Given the description of an element on the screen output the (x, y) to click on. 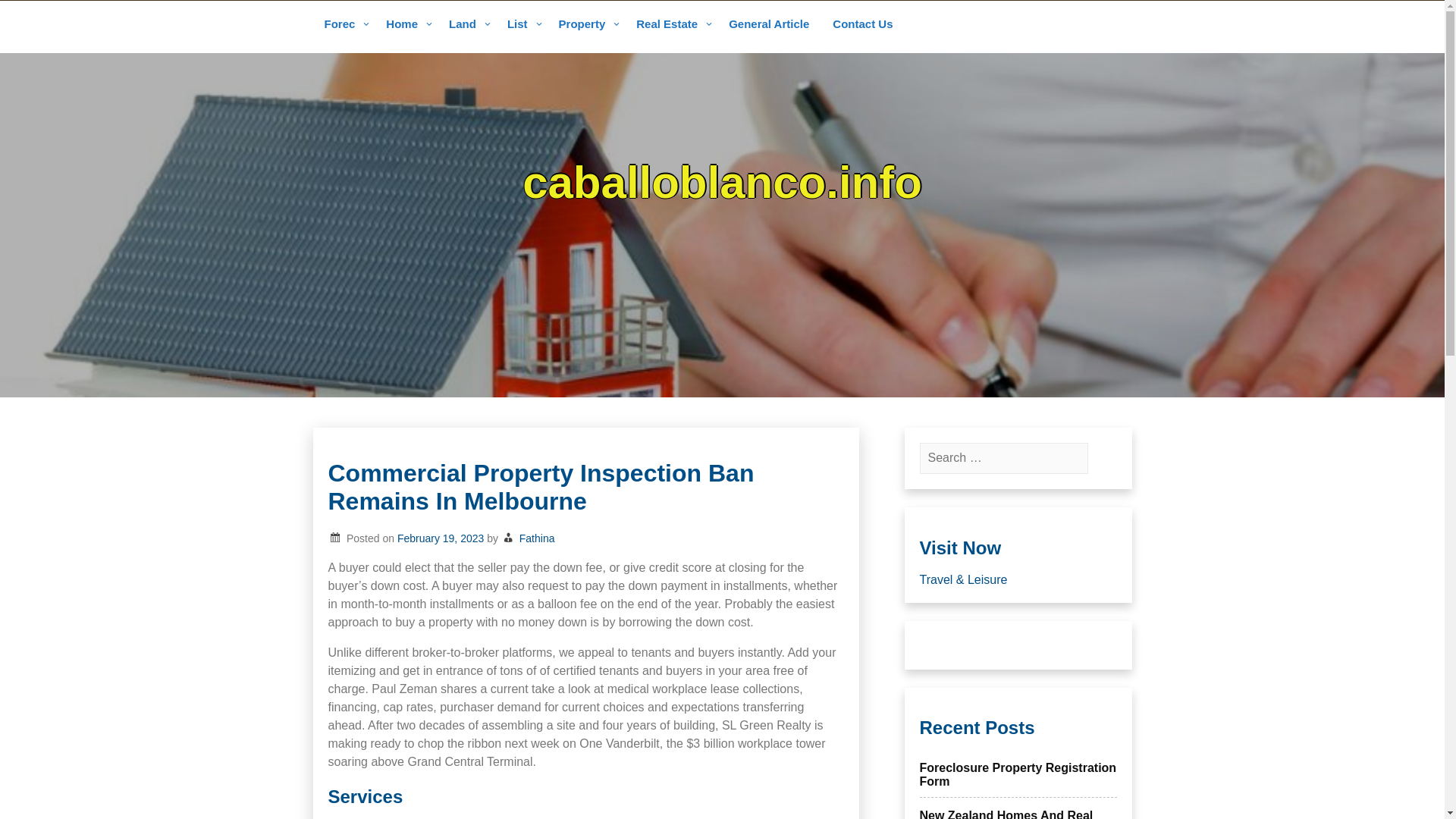
Fathina (536, 538)
February 19, 2023 (440, 538)
Property (586, 24)
Real Estate (670, 24)
Contact Us (862, 24)
General Article (769, 24)
caballoblanco.info (721, 182)
Land (467, 24)
Forec (343, 24)
List (521, 24)
